Given the description of an element on the screen output the (x, y) to click on. 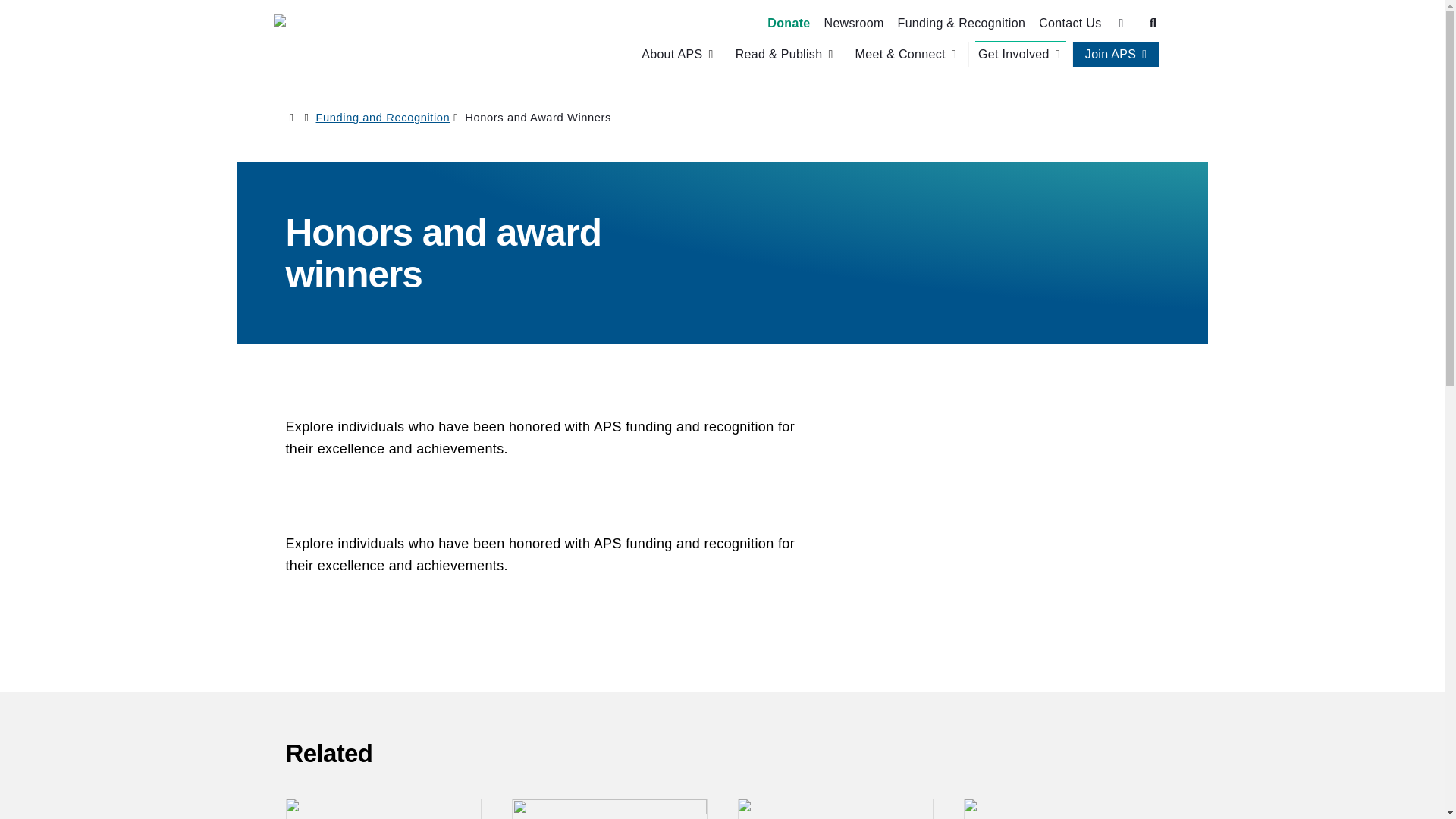
View About APS options (679, 54)
About APS (671, 54)
